Given the description of an element on the screen output the (x, y) to click on. 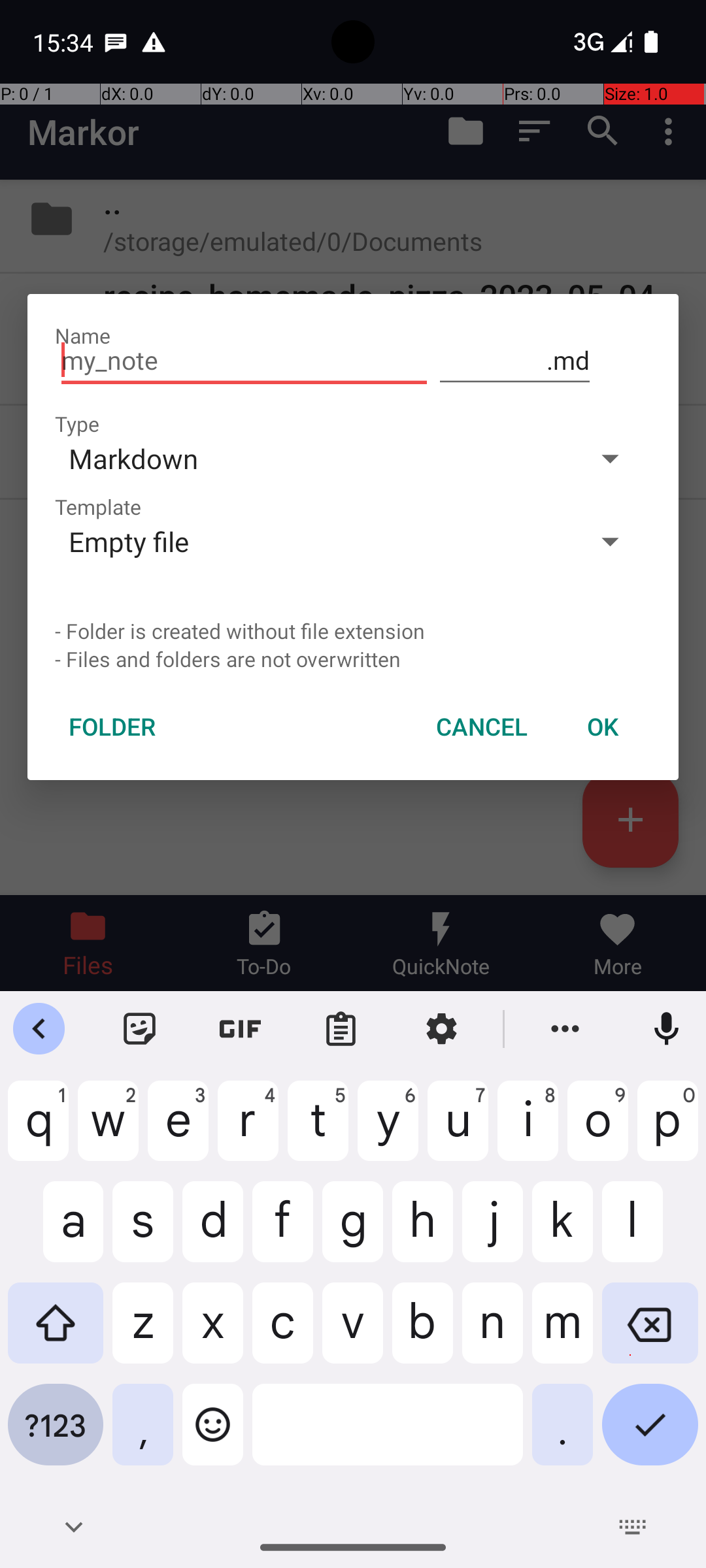
my_note Element type: android.widget.EditText (243, 360)
.md Element type: android.widget.EditText (514, 360)
Type Element type: android.widget.TextView (76, 423)
Template Element type: android.widget.TextView (97, 506)
- Folder is created without file extension Element type: android.widget.TextView (352, 630)
- Files and folders are not overwritten Element type: android.widget.TextView (352, 658)
FOLDER Element type: android.widget.Button (111, 726)
Markdown Element type: android.widget.TextView (311, 457)
Empty file Element type: android.widget.TextView (311, 540)
Done Element type: android.widget.FrameLayout (649, 1434)
